Given the description of an element on the screen output the (x, y) to click on. 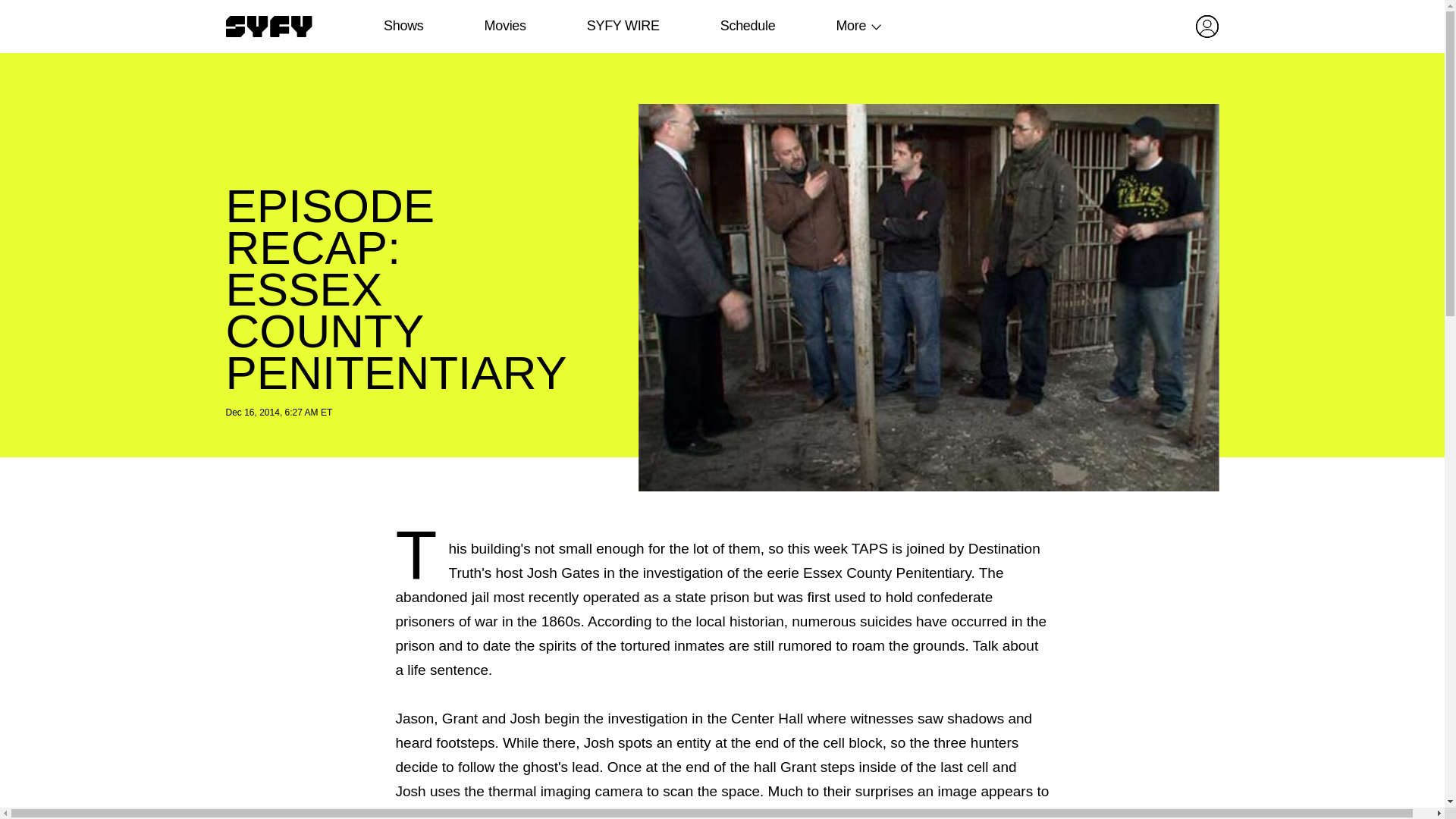
Schedule (746, 26)
SYFY WIRE (622, 26)
Shows (403, 26)
More (850, 26)
Movies (504, 26)
